Given the description of an element on the screen output the (x, y) to click on. 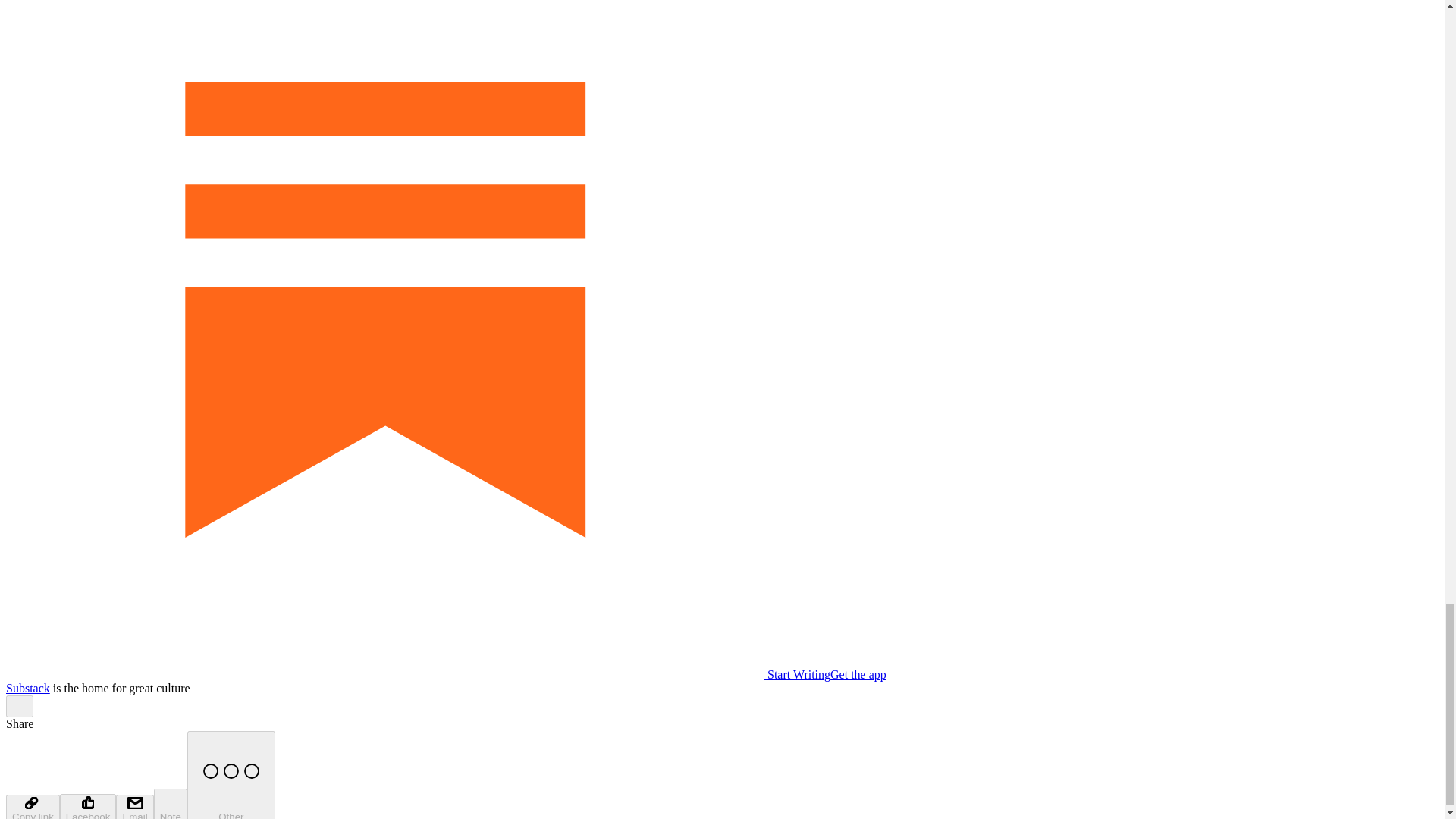
Substack (27, 687)
Get the app (857, 674)
Start Writing (417, 674)
